Given the description of an element on the screen output the (x, y) to click on. 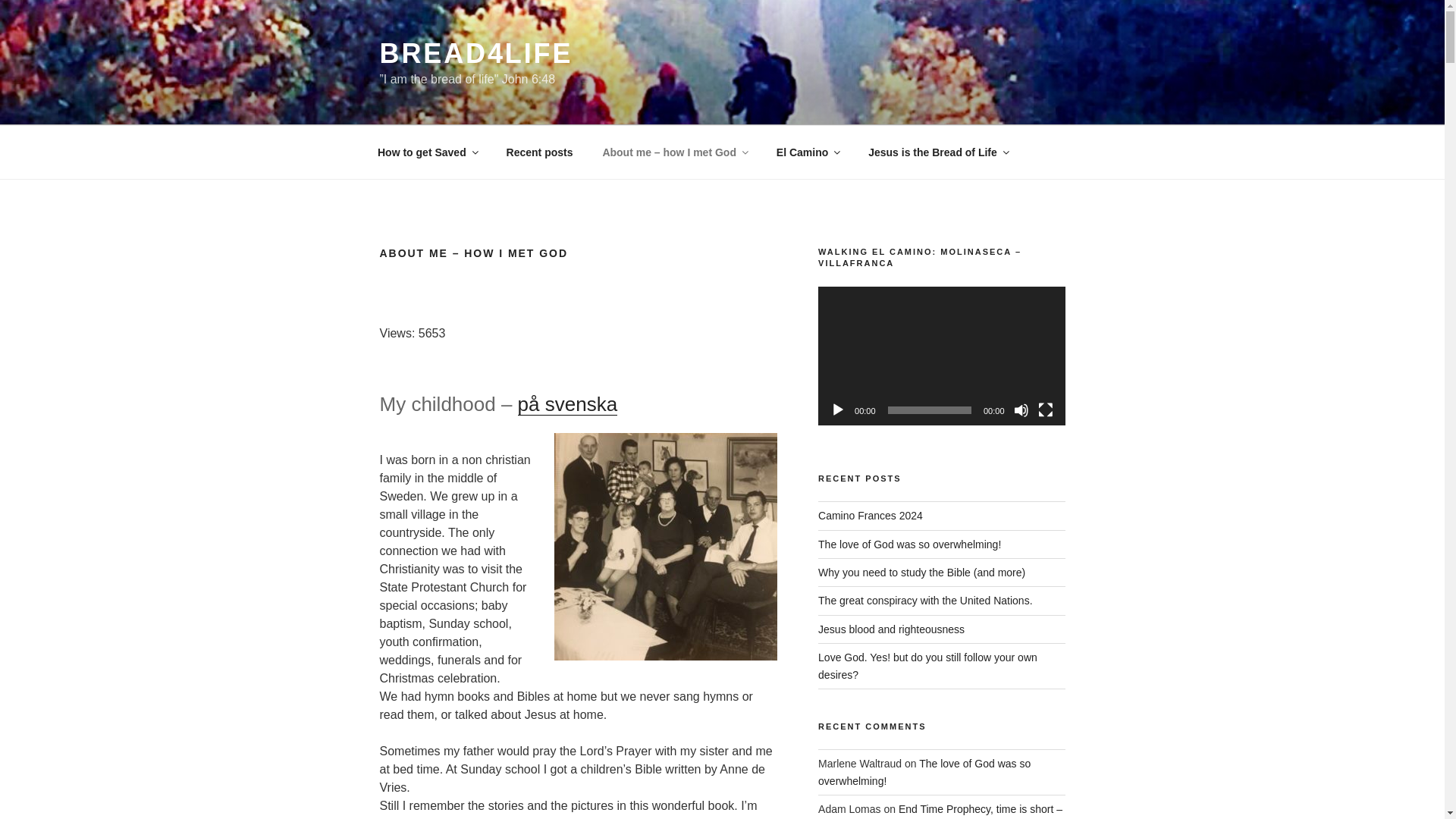
Jesus is the Bread of Life (939, 151)
BREAD4LIFE (475, 52)
How to get Saved (426, 151)
Fullscreen (1044, 409)
Recent posts (539, 151)
Play (837, 409)
El Camino (806, 151)
Mute (1020, 409)
